Given the description of an element on the screen output the (x, y) to click on. 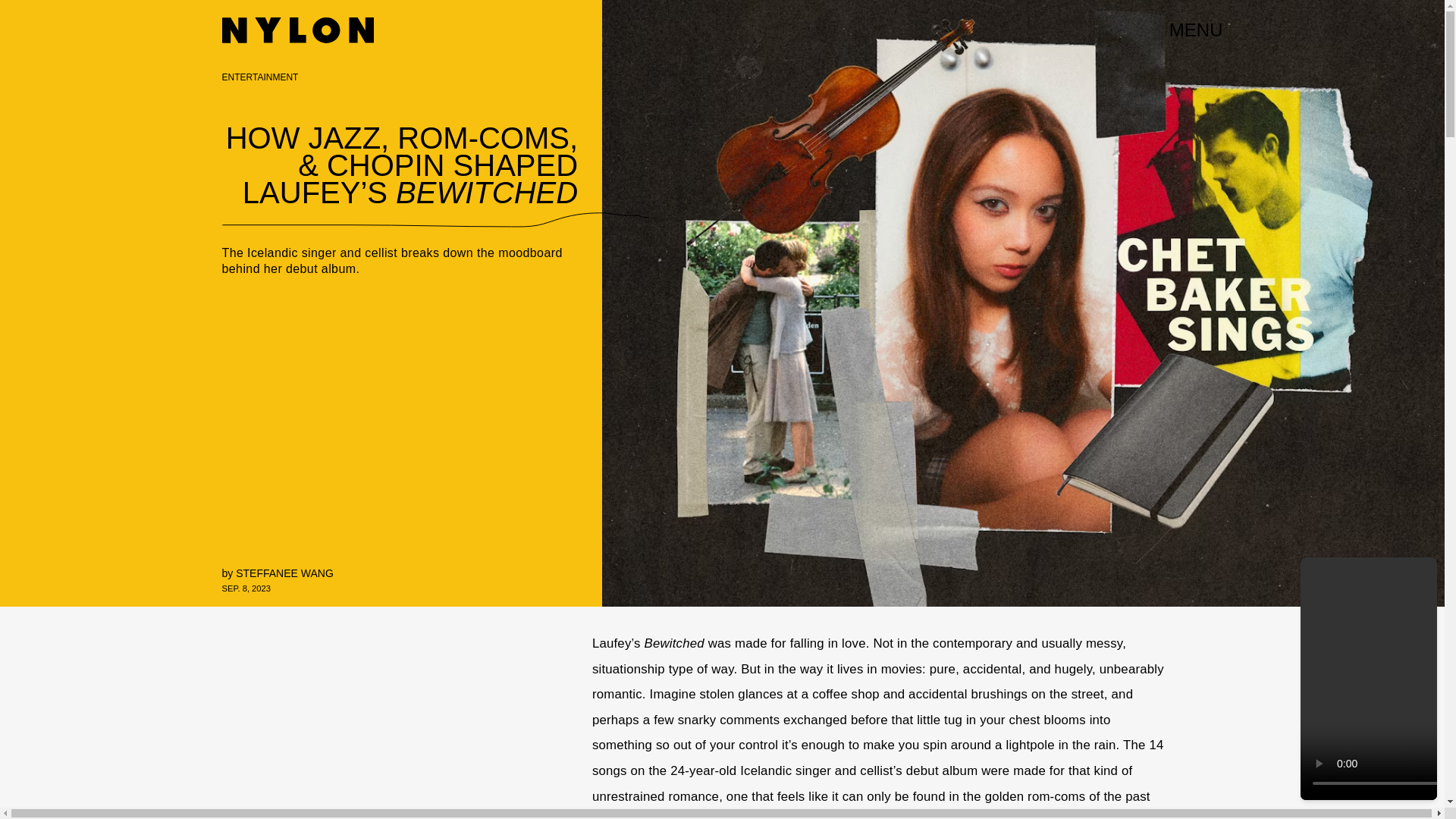
STEFFANEE WANG (284, 573)
Nylon (296, 30)
